Given the description of an element on the screen output the (x, y) to click on. 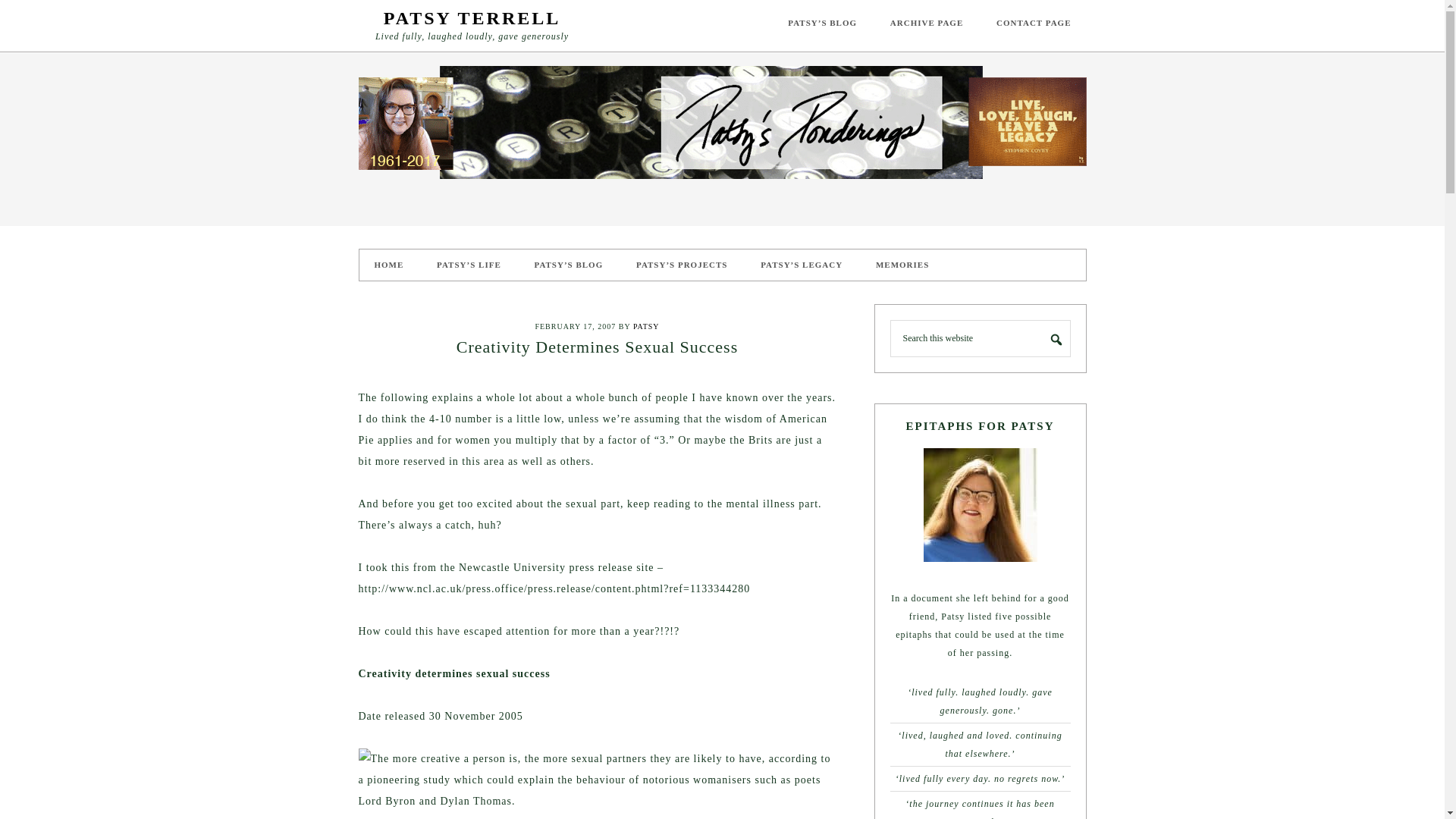
HOME (389, 264)
CONTACT PAGE (1033, 22)
PATSY (646, 326)
MEMORIES (901, 264)
ARCHIVE PAGE (926, 22)
PATSY TERRELL (472, 17)
